Given the description of an element on the screen output the (x, y) to click on. 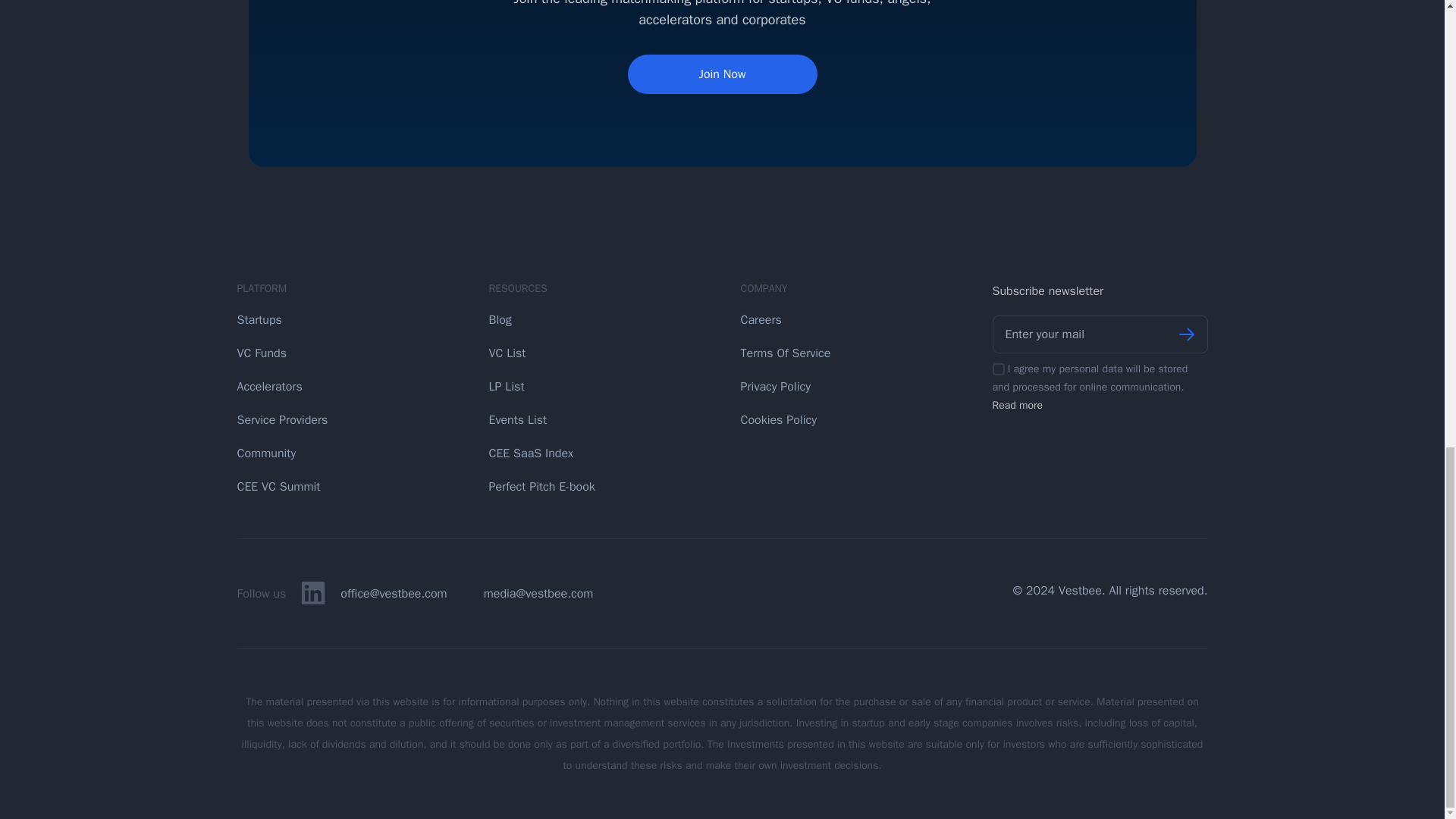
Blog (596, 318)
VC List (596, 352)
VC Funds (344, 352)
Terms Of Service (848, 352)
CEE VC Summit (344, 485)
Join Now (721, 74)
Careers (848, 318)
Perfect Pitch E-book (596, 485)
Community (344, 452)
Service Providers (344, 419)
